Given the description of an element on the screen output the (x, y) to click on. 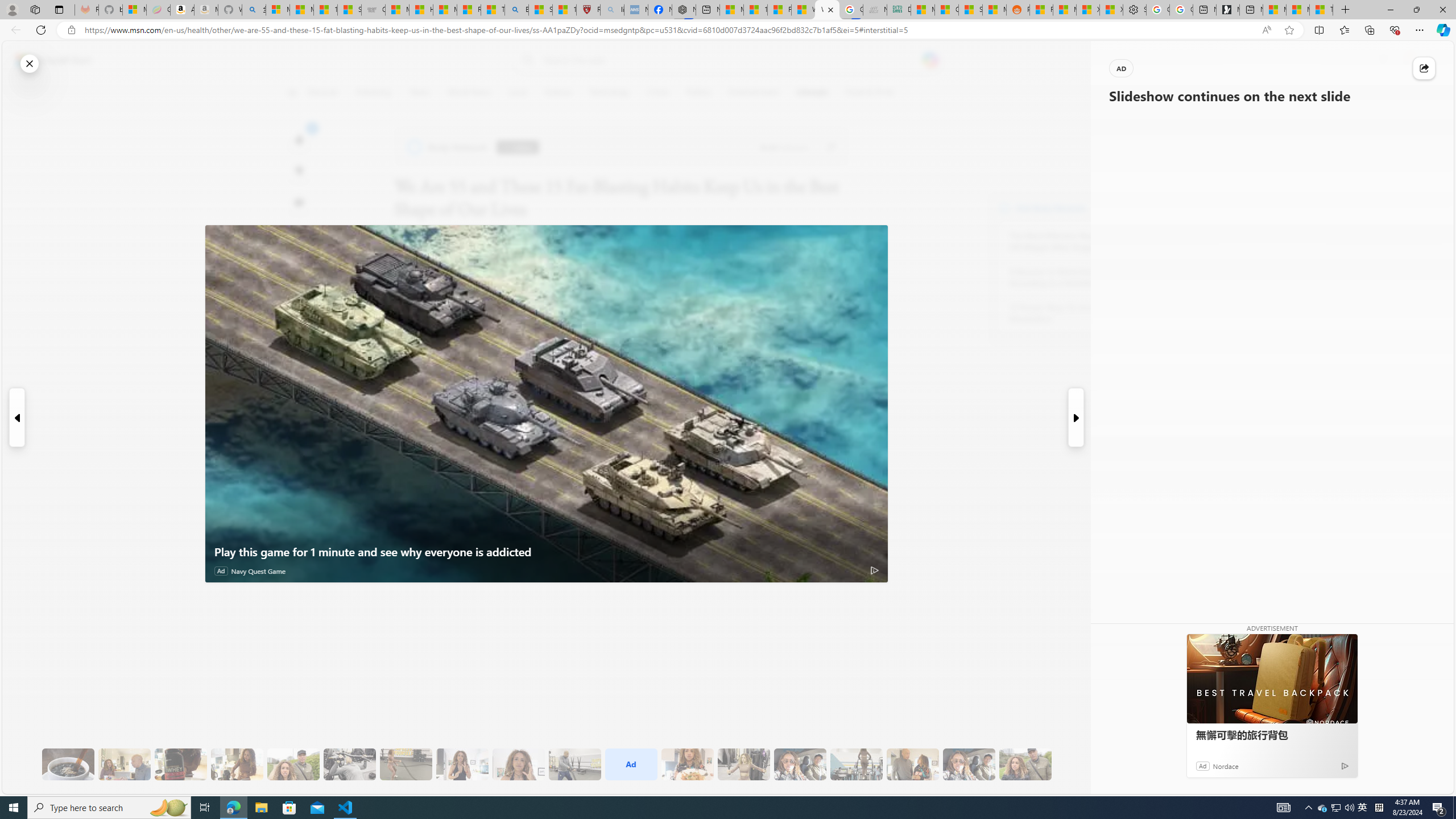
7 They Don't Skip Meals (237, 764)
14 They Have Salmon and Veggies for Dinner (687, 764)
Previous Slide (16, 417)
